Given the description of an element on the screen output the (x, y) to click on. 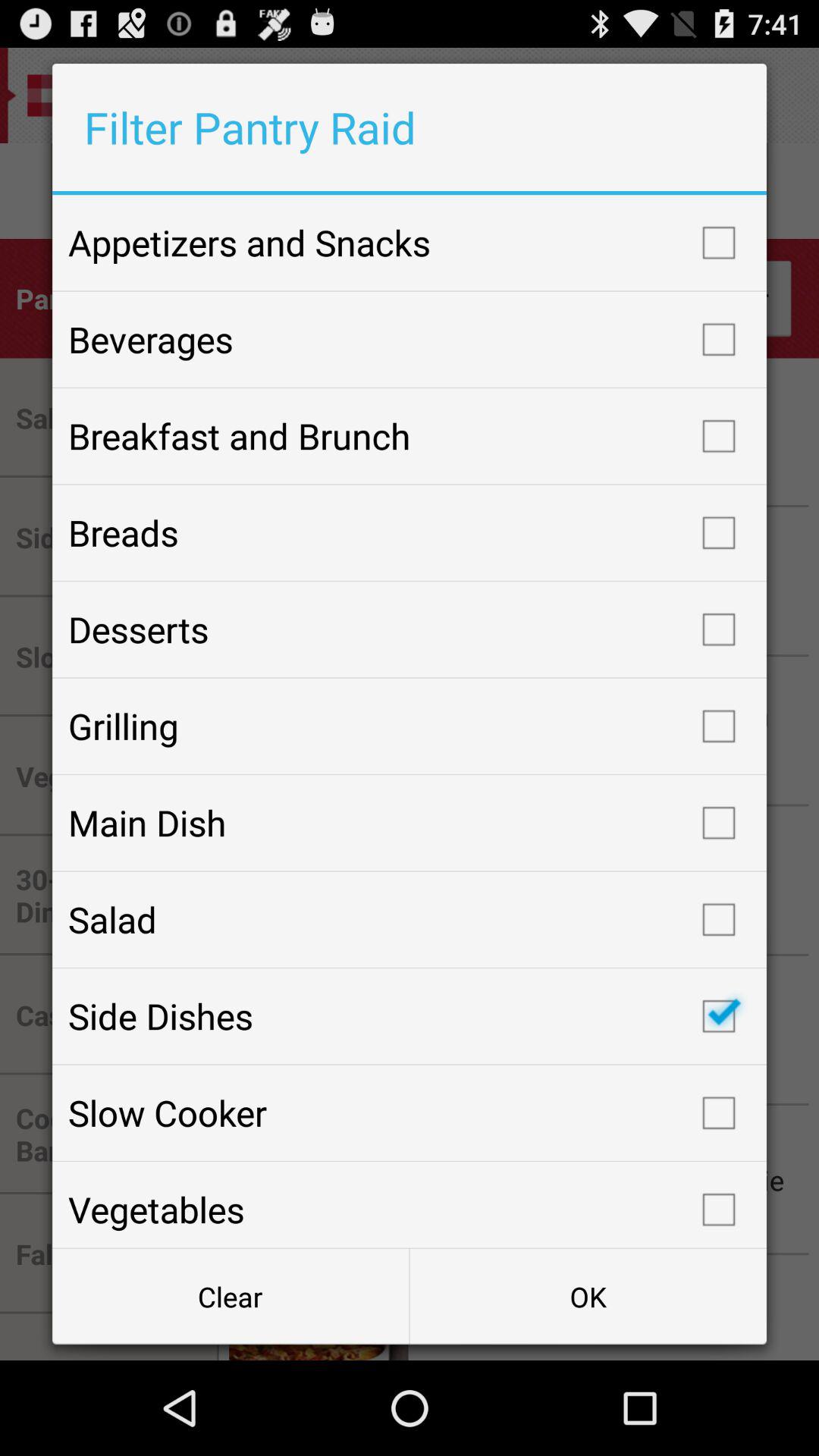
click breads icon (409, 532)
